Given the description of an element on the screen output the (x, y) to click on. 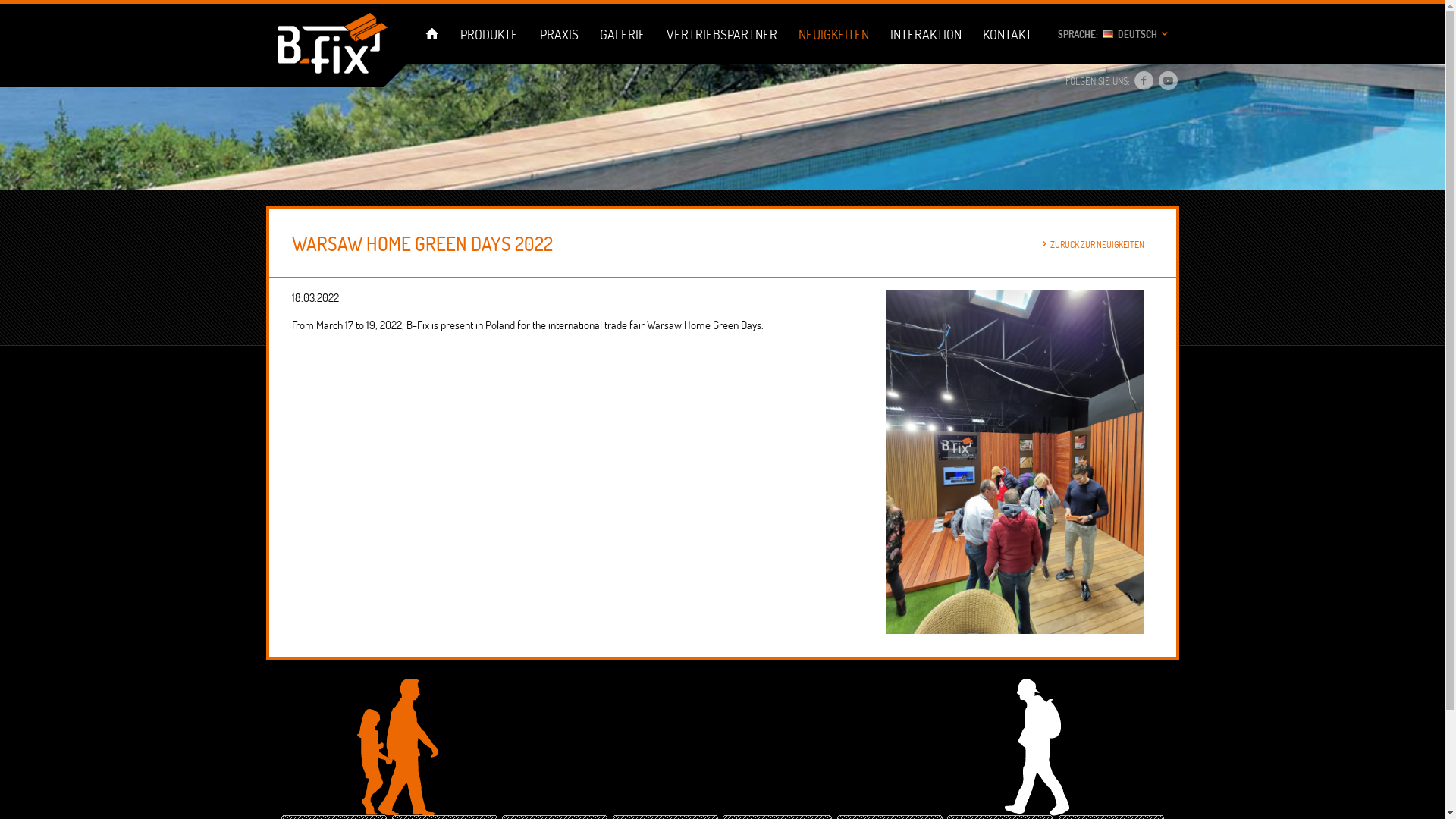
INTERAKTION Element type: text (926, 33)
GALERIE Element type: text (621, 33)
PRAXIS Element type: text (558, 33)
NEUIGKEITEN Element type: text (833, 33)
KONTAKT Element type: text (1007, 33)
PRODUKTE Element type: text (489, 33)
Youtube Element type: hover (1167, 81)
VERTRIEBSPARTNER Element type: text (721, 33)
Facebook Element type: hover (1144, 81)
